Given the description of an element on the screen output the (x, y) to click on. 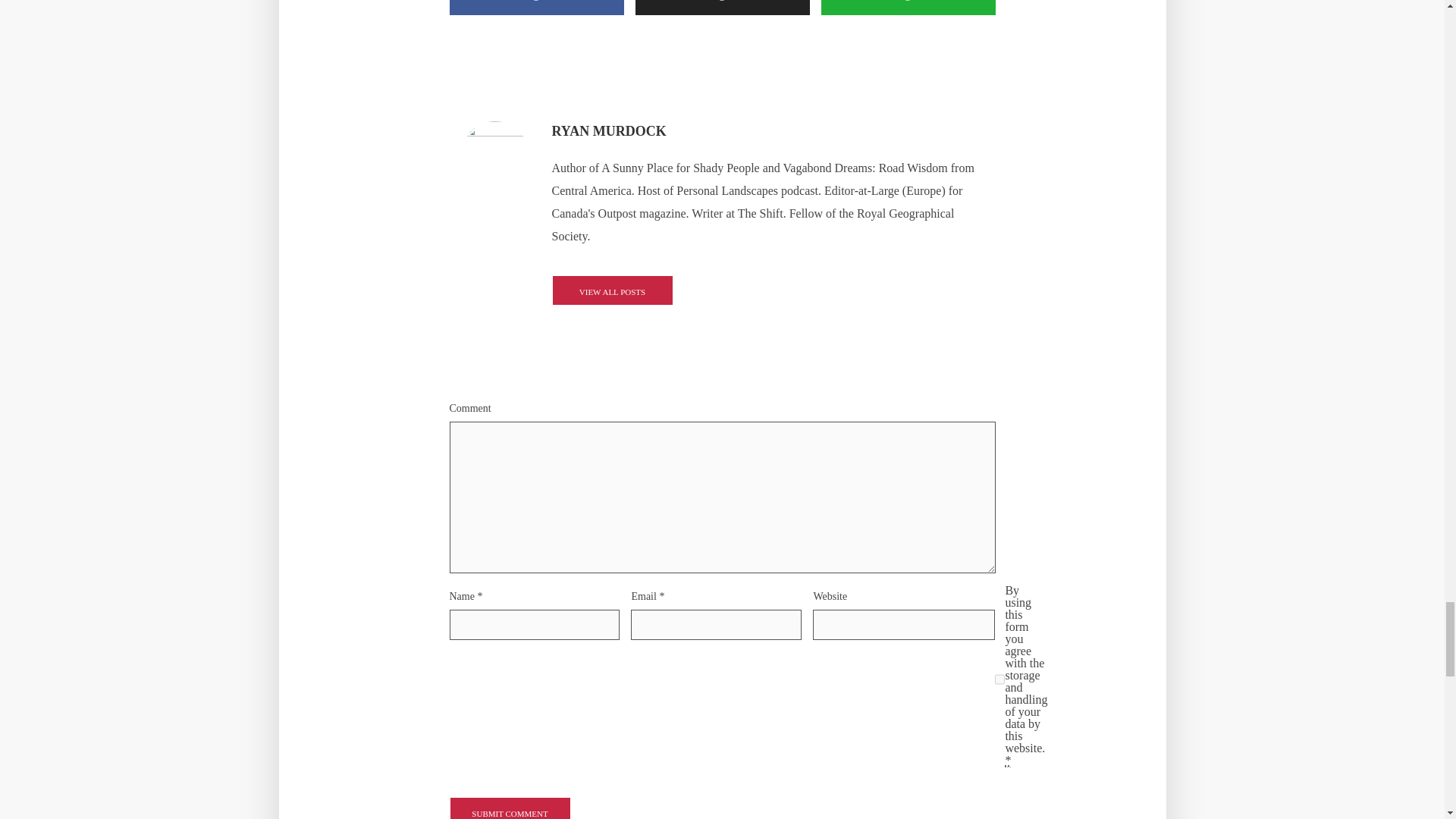
Submit Comment (509, 807)
VIEW ALL POSTS (611, 290)
Submit Comment (509, 807)
